Given the description of an element on the screen output the (x, y) to click on. 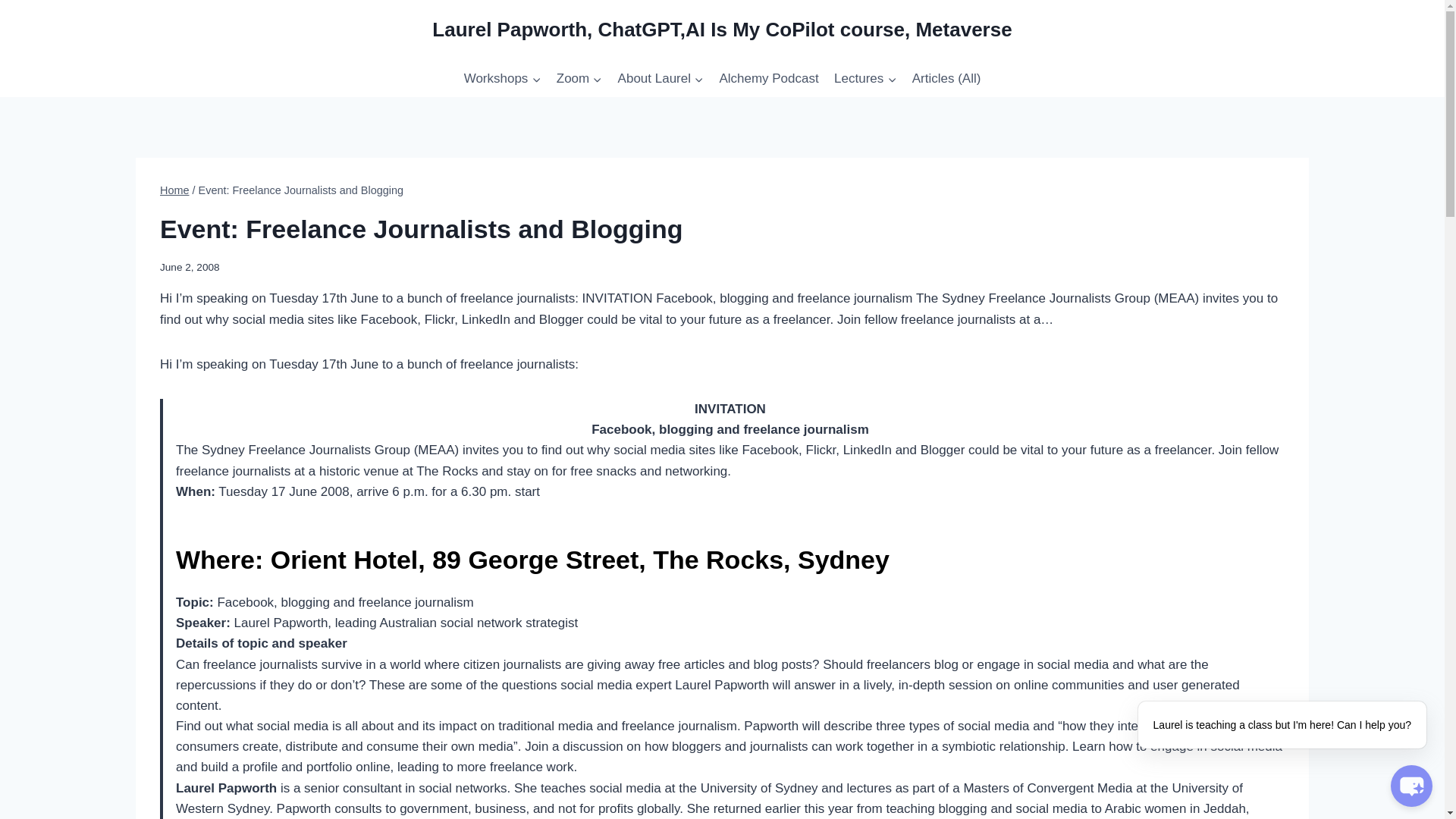
Workshops (501, 78)
Laurel Papworth, ChatGPT,AI Is My CoPilot course, Metaverse (721, 29)
Lectures (865, 78)
Zoom (579, 78)
Home (174, 190)
Alchemy Podcast (769, 78)
About Laurel (660, 78)
